Given the description of an element on the screen output the (x, y) to click on. 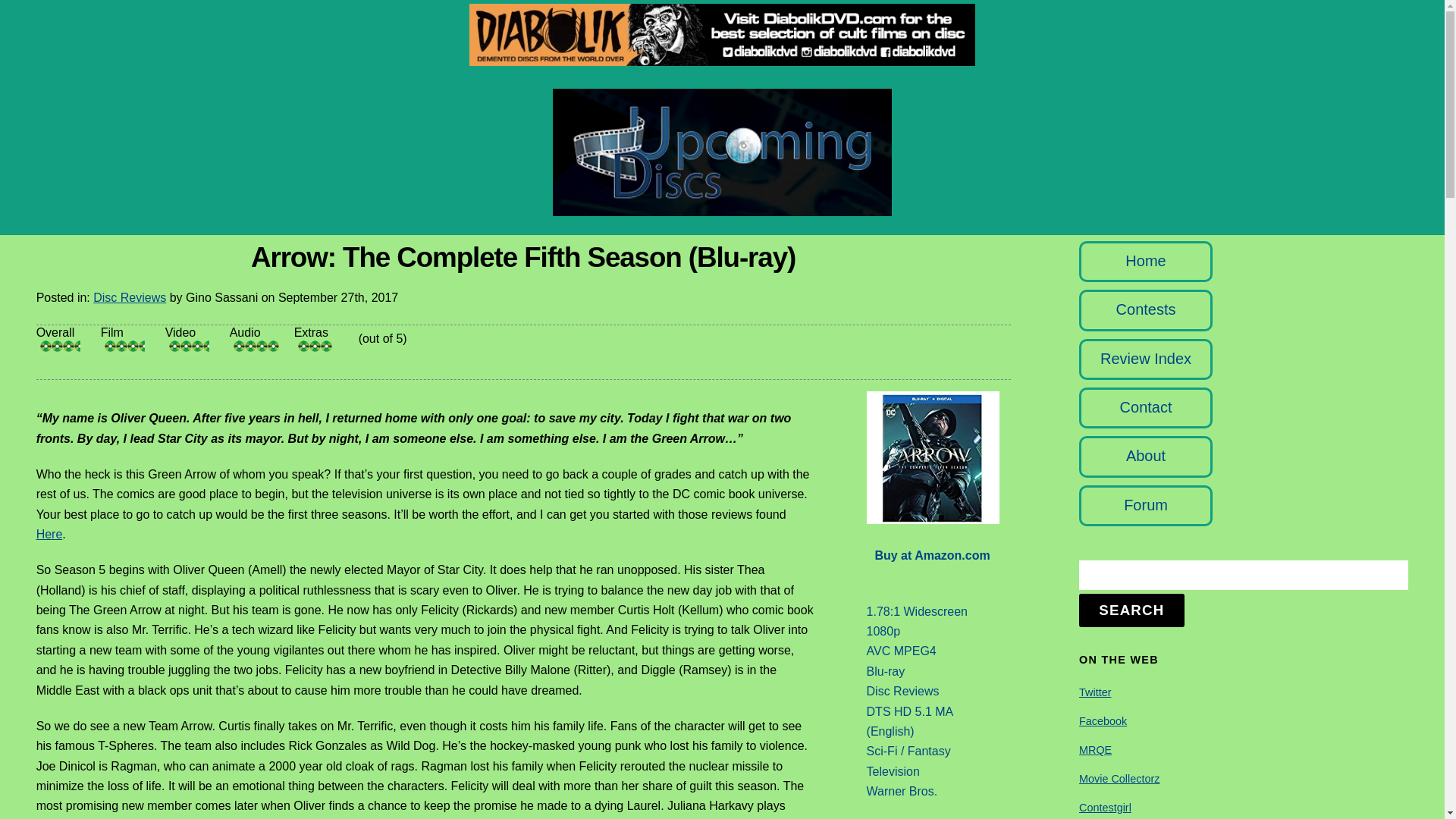
Blu-ray (885, 671)
Here (49, 533)
Television (893, 771)
Search (1242, 574)
1.78:1 Widescreen (917, 611)
1080p (883, 631)
Warner Bros. (901, 790)
Disc Reviews (902, 690)
AVC MPEG4 (901, 650)
Disc Reviews (129, 297)
